Given the description of an element on the screen output the (x, y) to click on. 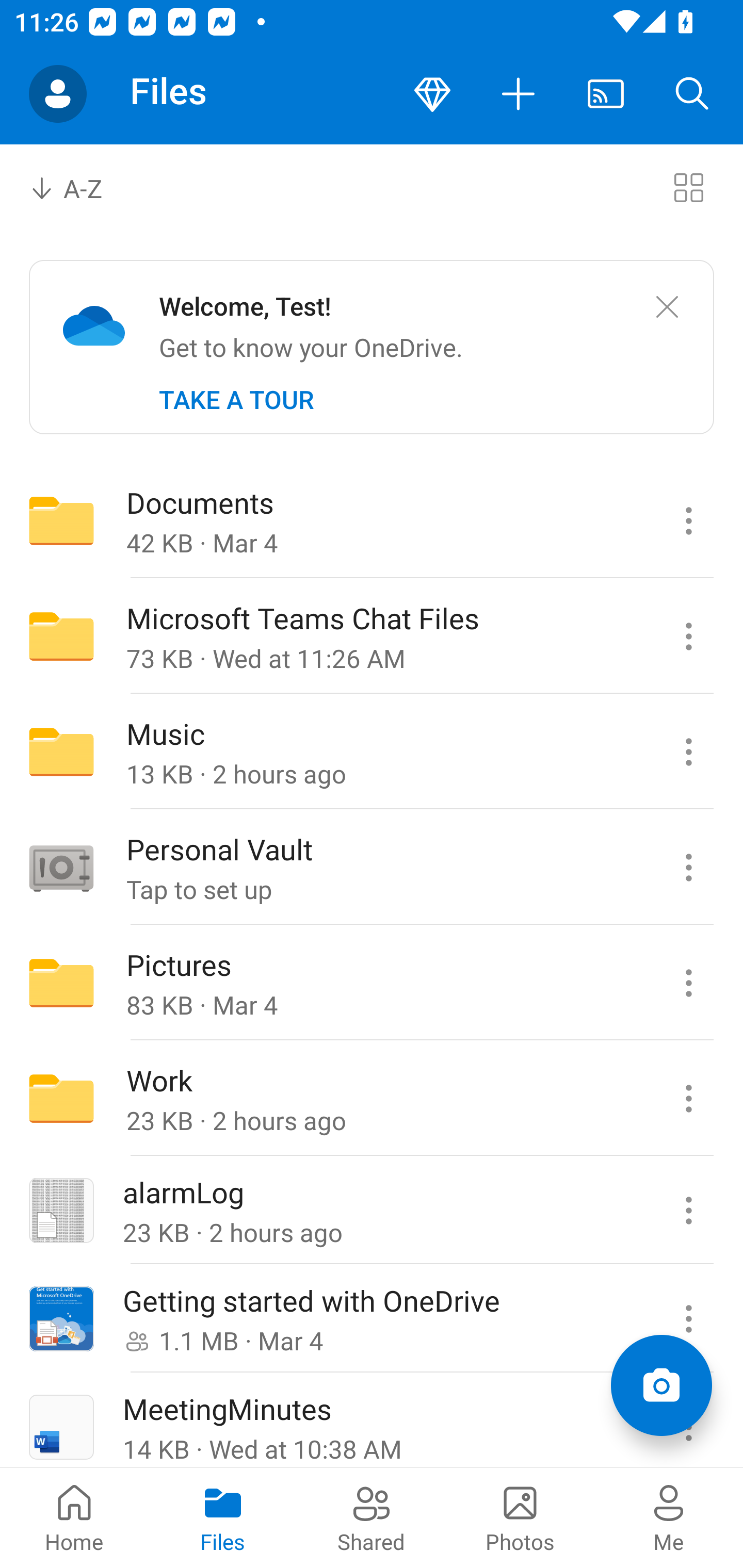
Account switcher (57, 93)
Cast. Disconnected (605, 93)
Premium button (432, 93)
More actions button (518, 93)
Search button (692, 93)
A-Z Sort by combo box, sort by name, A to Z (80, 187)
Switch to tiles view (688, 187)
Close (667, 307)
TAKE A TOUR (236, 399)
Folder Documents 42 KB · Mar 4 Documents commands (371, 520)
Documents commands (688, 520)
Microsoft Teams Chat Files commands (688, 636)
Folder Music 13 KB · 2 hours ago Music commands (371, 751)
Music commands (688, 751)
Personal Vault commands (688, 867)
Folder Pictures 83 KB · Mar 4 Pictures commands (371, 983)
Pictures commands (688, 983)
Folder Work 23 KB · 2 hours ago Work commands (371, 1099)
Work commands (688, 1099)
alarmLog commands (688, 1211)
Getting started with OneDrive commands (688, 1319)
Add items Scan (660, 1385)
Home pivot Home (74, 1517)
Shared pivot Shared (371, 1517)
Photos pivot Photos (519, 1517)
Me pivot Me (668, 1517)
